Given the description of an element on the screen output the (x, y) to click on. 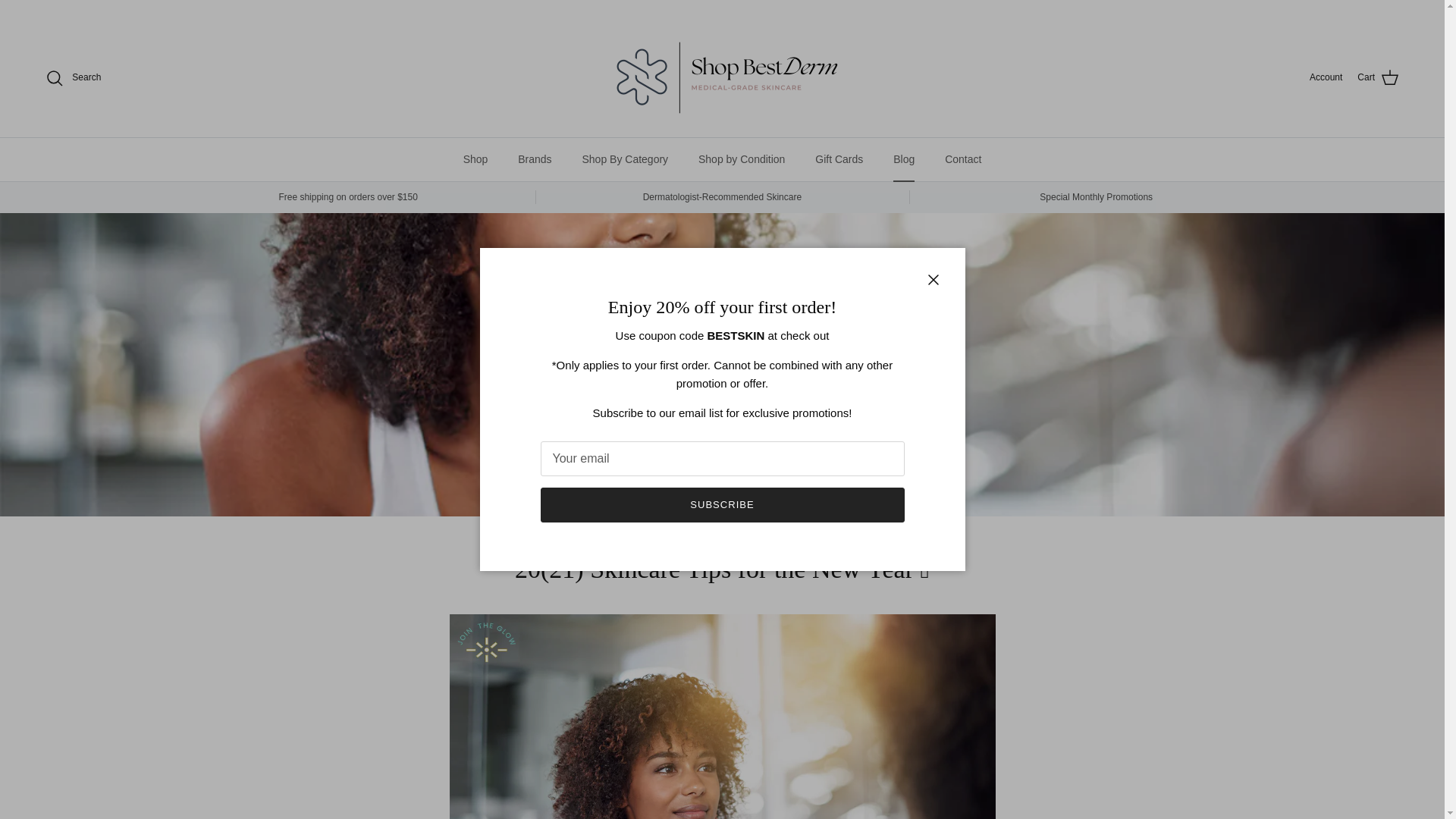
Shop BestDerm (721, 77)
Account (1325, 77)
Brands (533, 159)
Search (72, 76)
Shop By Category (624, 159)
Cart (1377, 77)
Shop by Condition (740, 159)
Shop (475, 159)
